Given the description of an element on the screen output the (x, y) to click on. 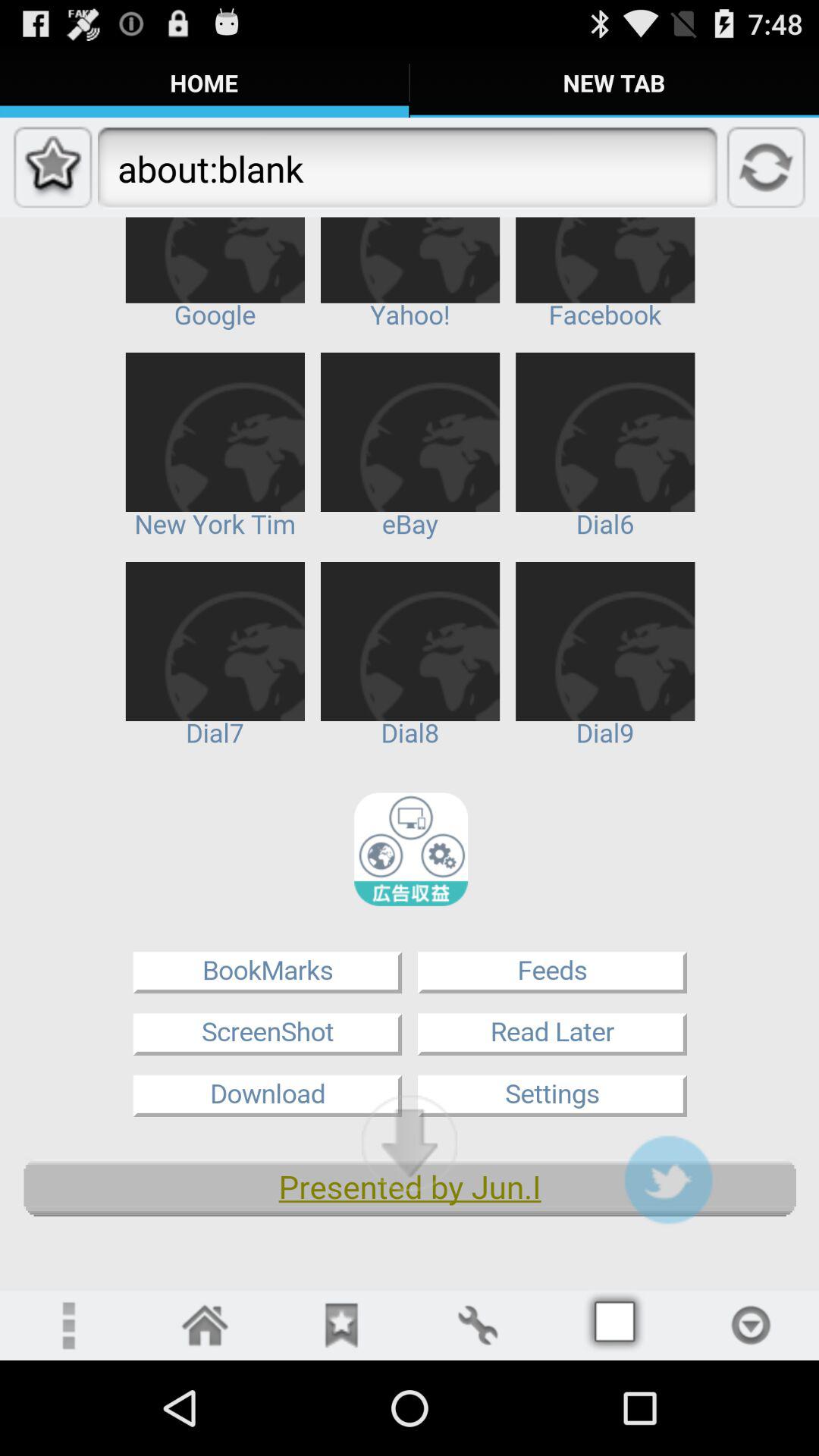
icon page (750, 1325)
